Given the description of an element on the screen output the (x, y) to click on. 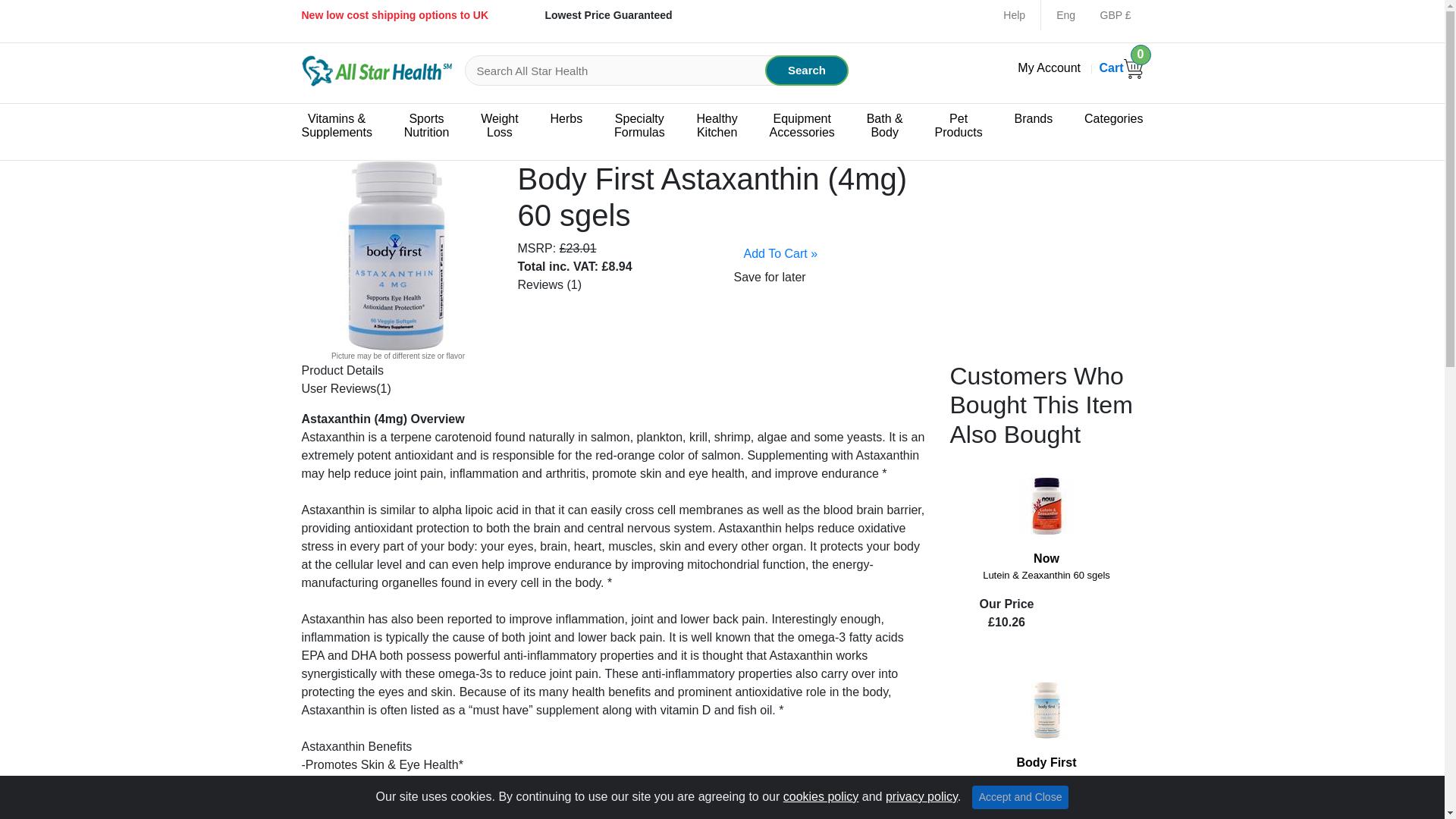
Eng (1069, 15)
My Account (1048, 67)
Help (1014, 15)
Search (1120, 67)
Search (806, 70)
